Given the description of an element on the screen output the (x, y) to click on. 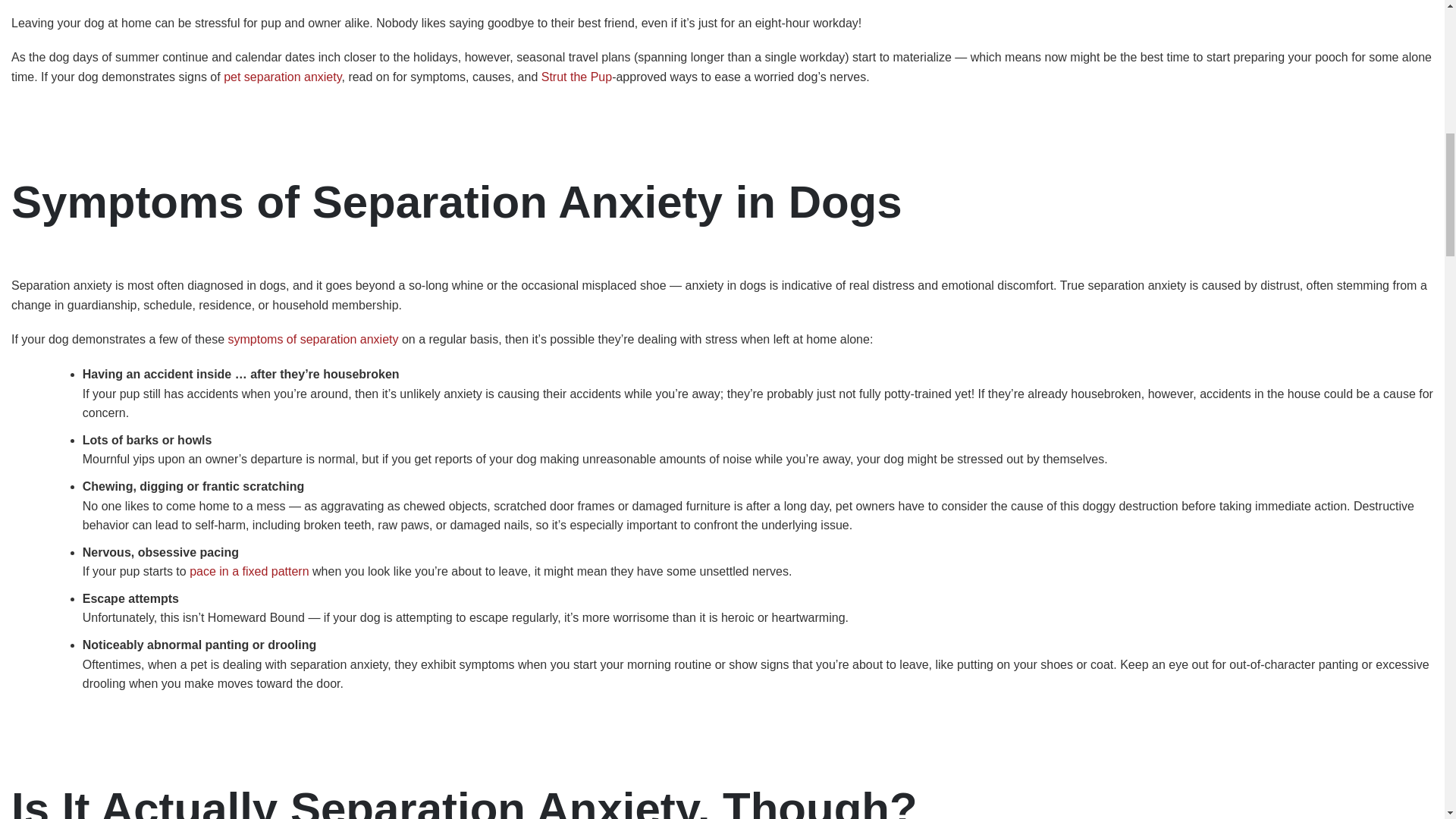
pet separation anxiety (282, 76)
Strut the Pup (576, 76)
symptoms of separation anxiety (312, 338)
pace in a fixed pattern (248, 571)
